Given the description of an element on the screen output the (x, y) to click on. 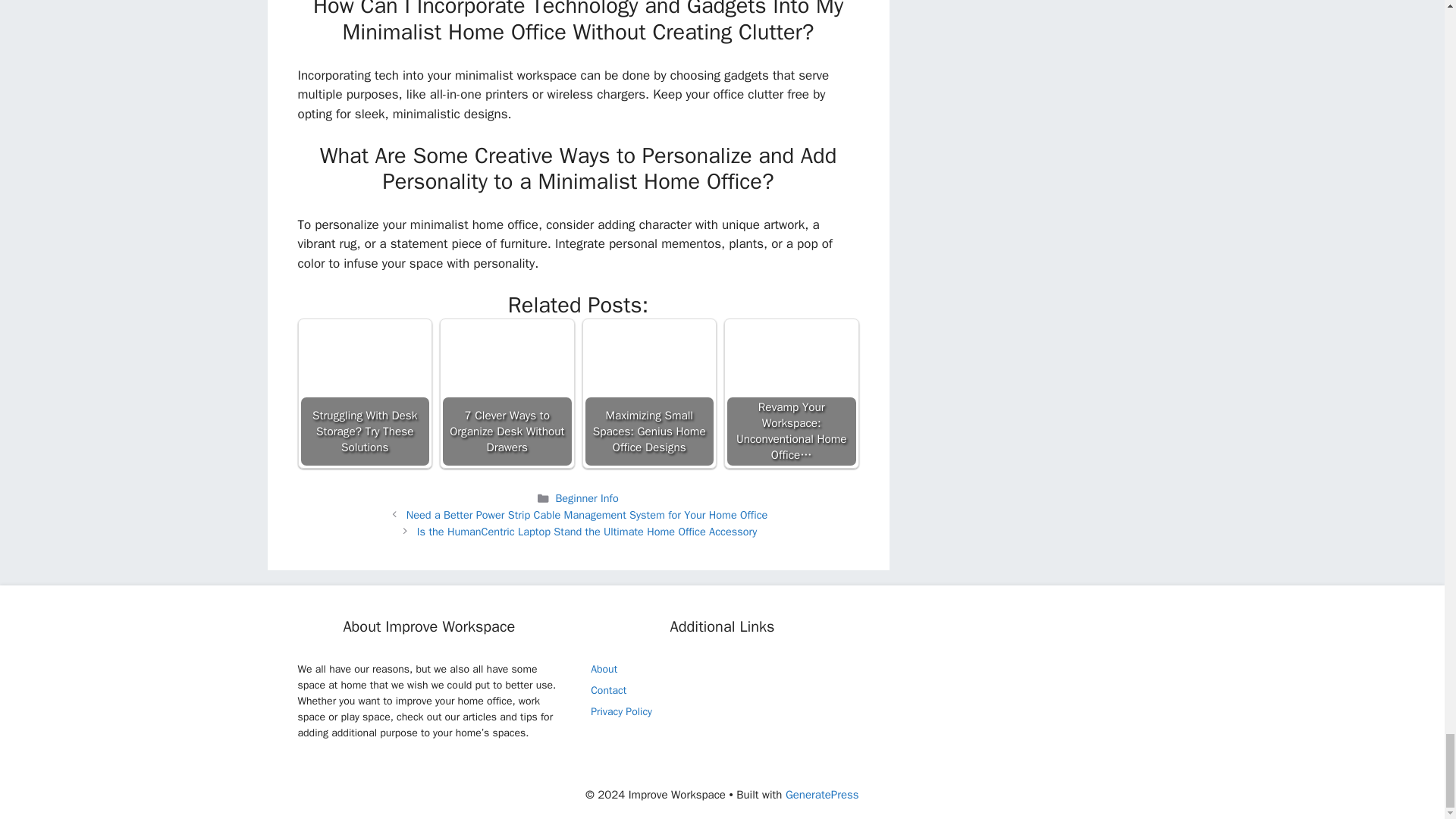
About (604, 668)
7 Clever Ways to Organize Desk Without Drawers (506, 377)
Maximizing Small Spaces: Genius Home Office Designs (649, 377)
7 Clever Ways to Organize Desk Without Drawers (507, 393)
Struggling With Desk Storage? Try These Solutions (365, 393)
GeneratePress (822, 794)
Privacy Policy (621, 711)
Contact (608, 689)
Struggling With Desk Storage? Try These Solutions (364, 377)
Beginner Info (585, 498)
Maximizing Small Spaces: Genius Home Office Designs (649, 393)
